Given the description of an element on the screen output the (x, y) to click on. 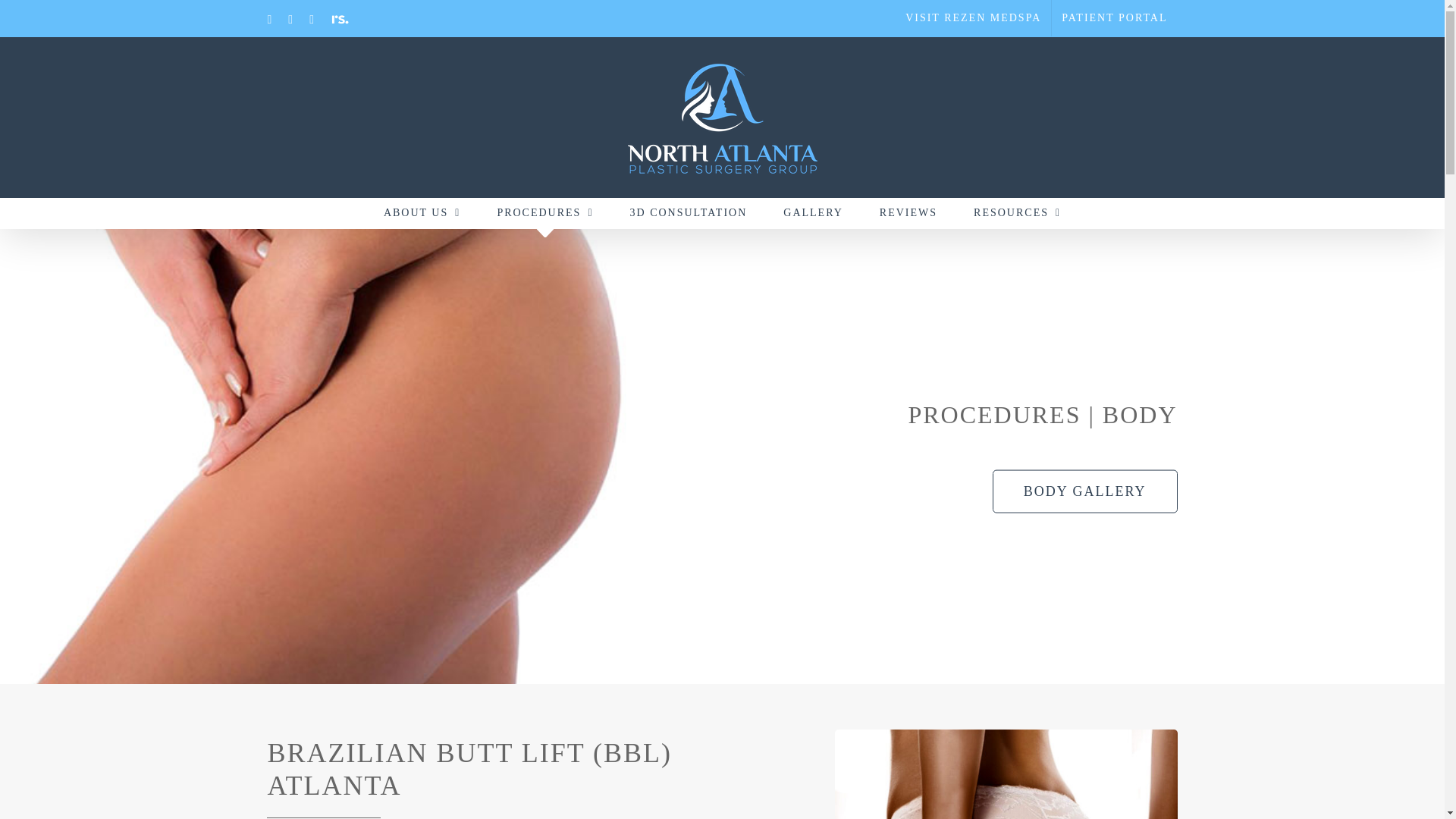
PATIENT PORTAL (1113, 18)
VISIT REZEN MEDSPA (973, 18)
PROCEDURES (544, 213)
procedure-brazilian-butt-lift (1005, 774)
ABOUT US (422, 213)
REALSELF (339, 19)
